Given the description of an element on the screen output the (x, y) to click on. 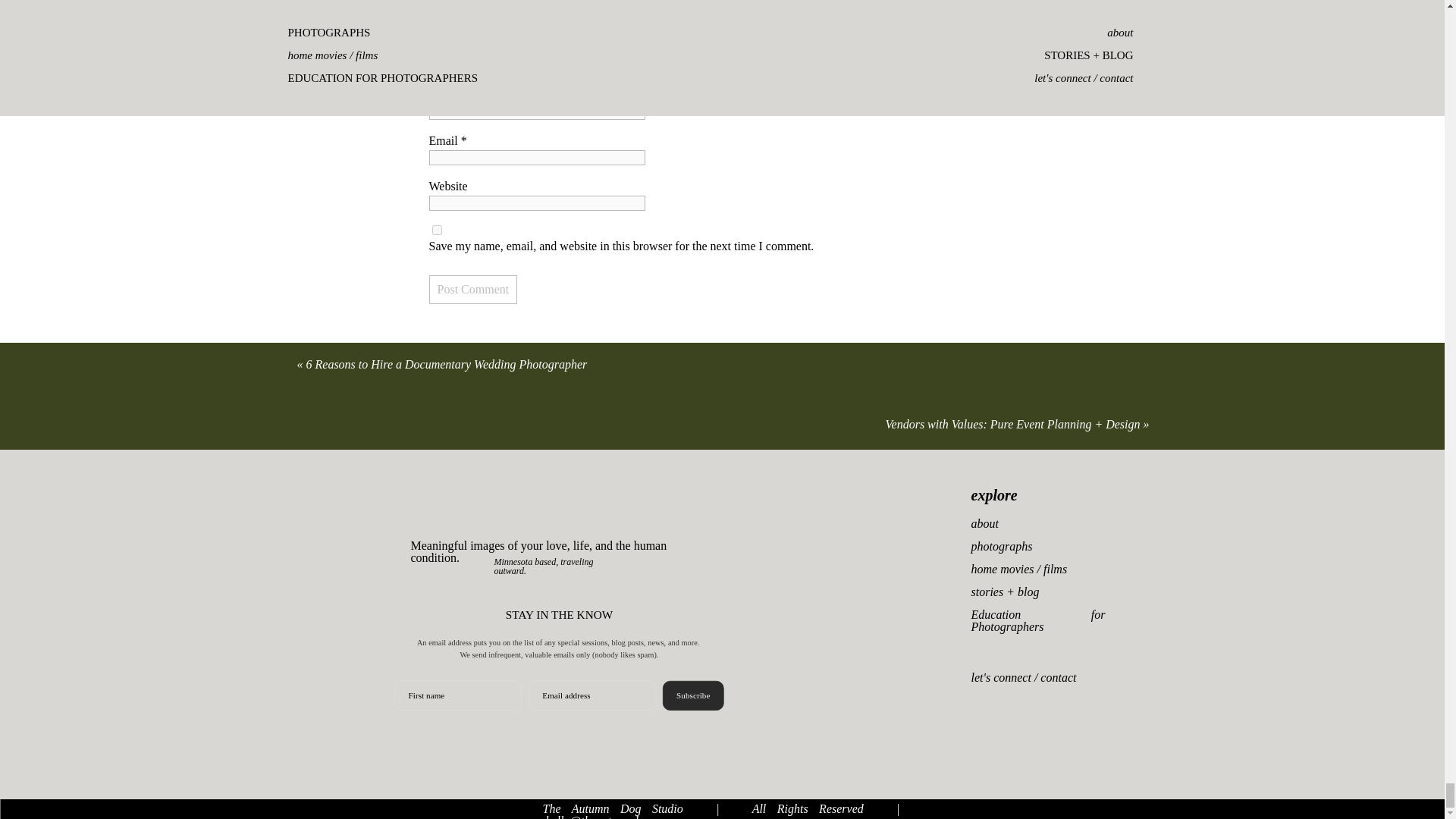
Post Comment (473, 289)
yes (437, 230)
